Given the description of an element on the screen output the (x, y) to click on. 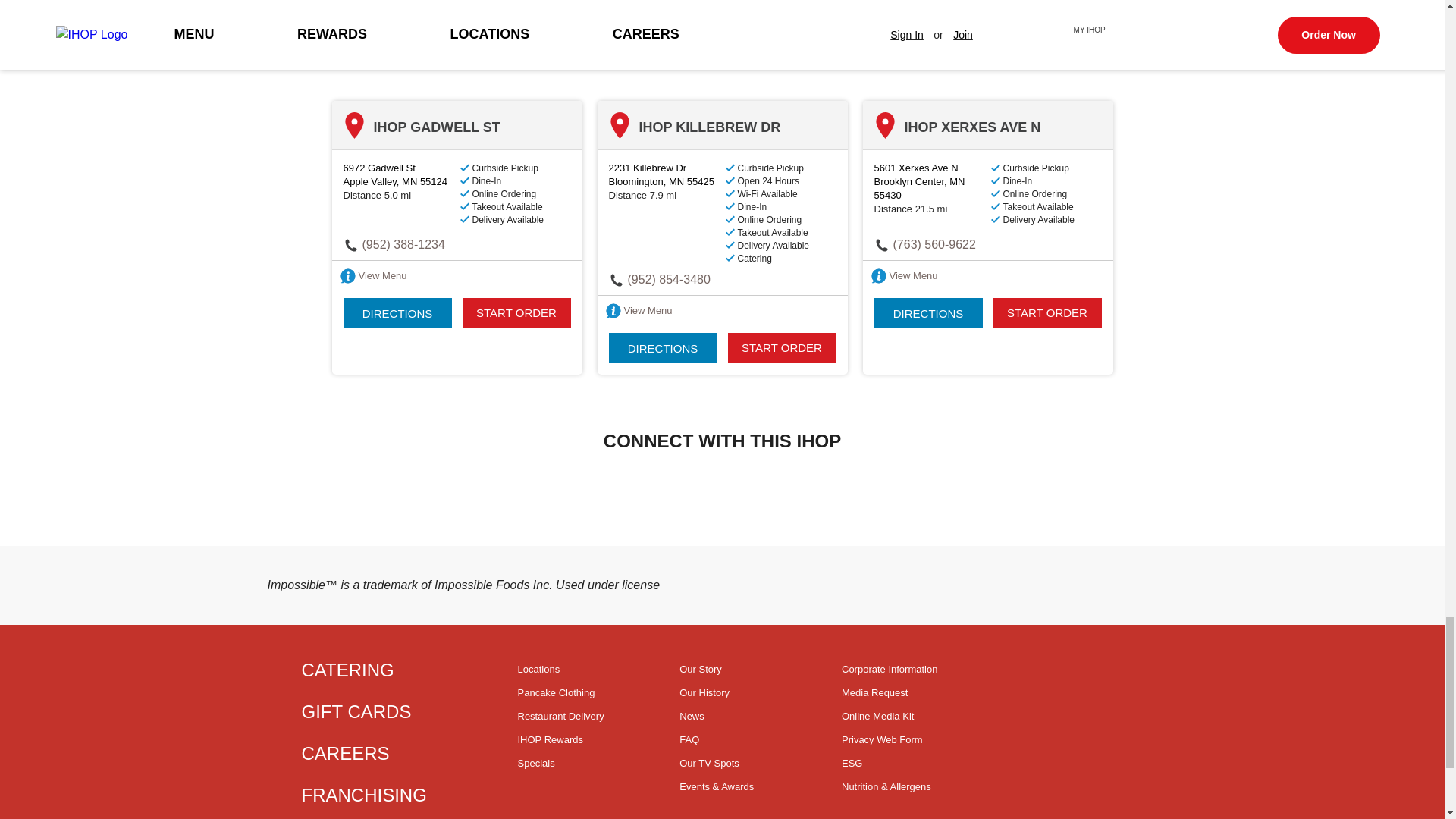
IHOP GADWELL ST (399, 175)
